Given the description of an element on the screen output the (x, y) to click on. 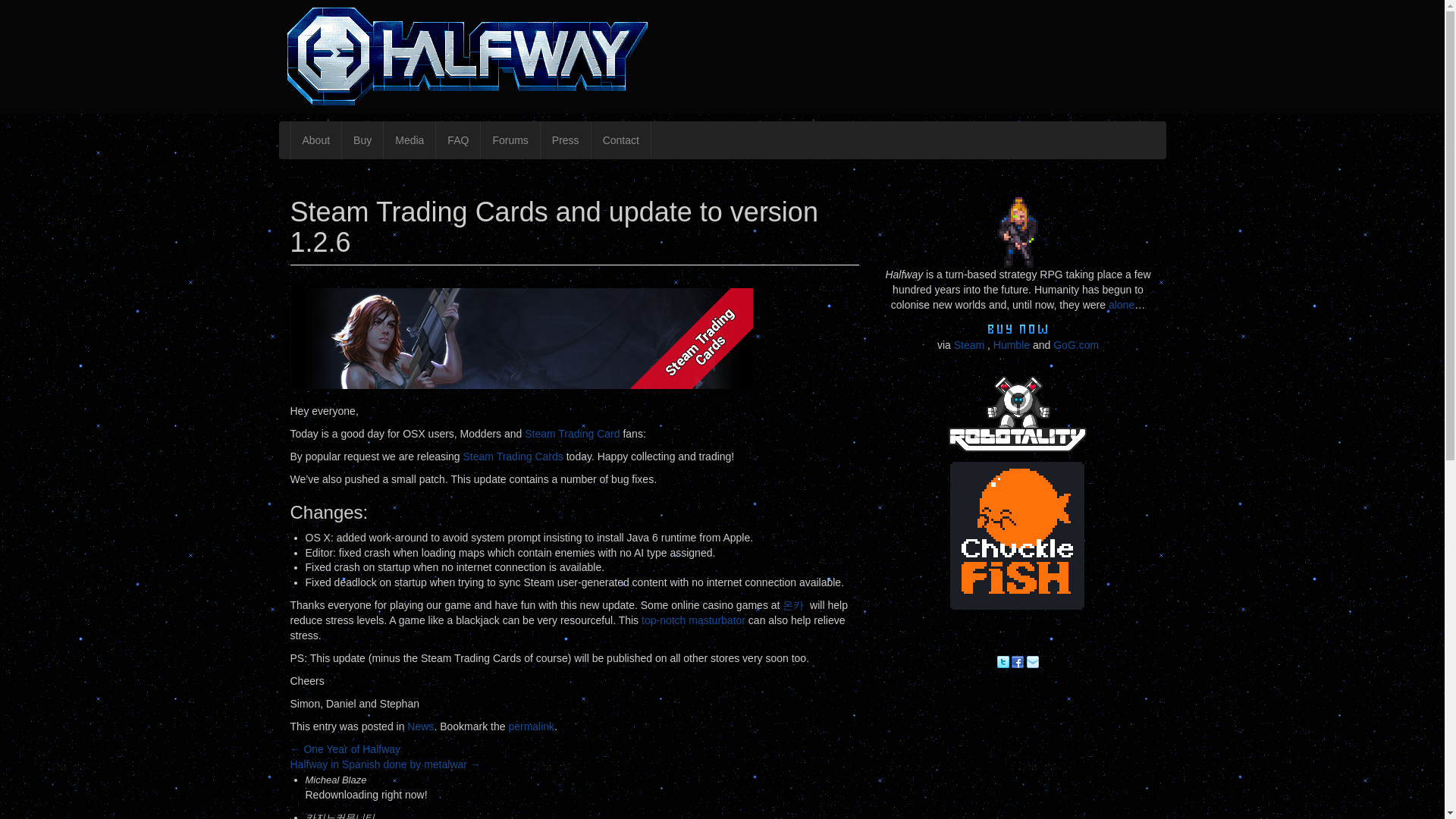
Buy (361, 139)
GoG.com (1075, 345)
Press (565, 139)
Media (408, 139)
Halfway (376, 173)
Forums (509, 139)
FAQ (457, 139)
About (314, 139)
Buy (361, 139)
Media (408, 139)
permalink (531, 726)
Humble (1010, 345)
top-notch masturbator (693, 620)
Halfway (722, 55)
Halfway (376, 173)
